Given the description of an element on the screen output the (x, y) to click on. 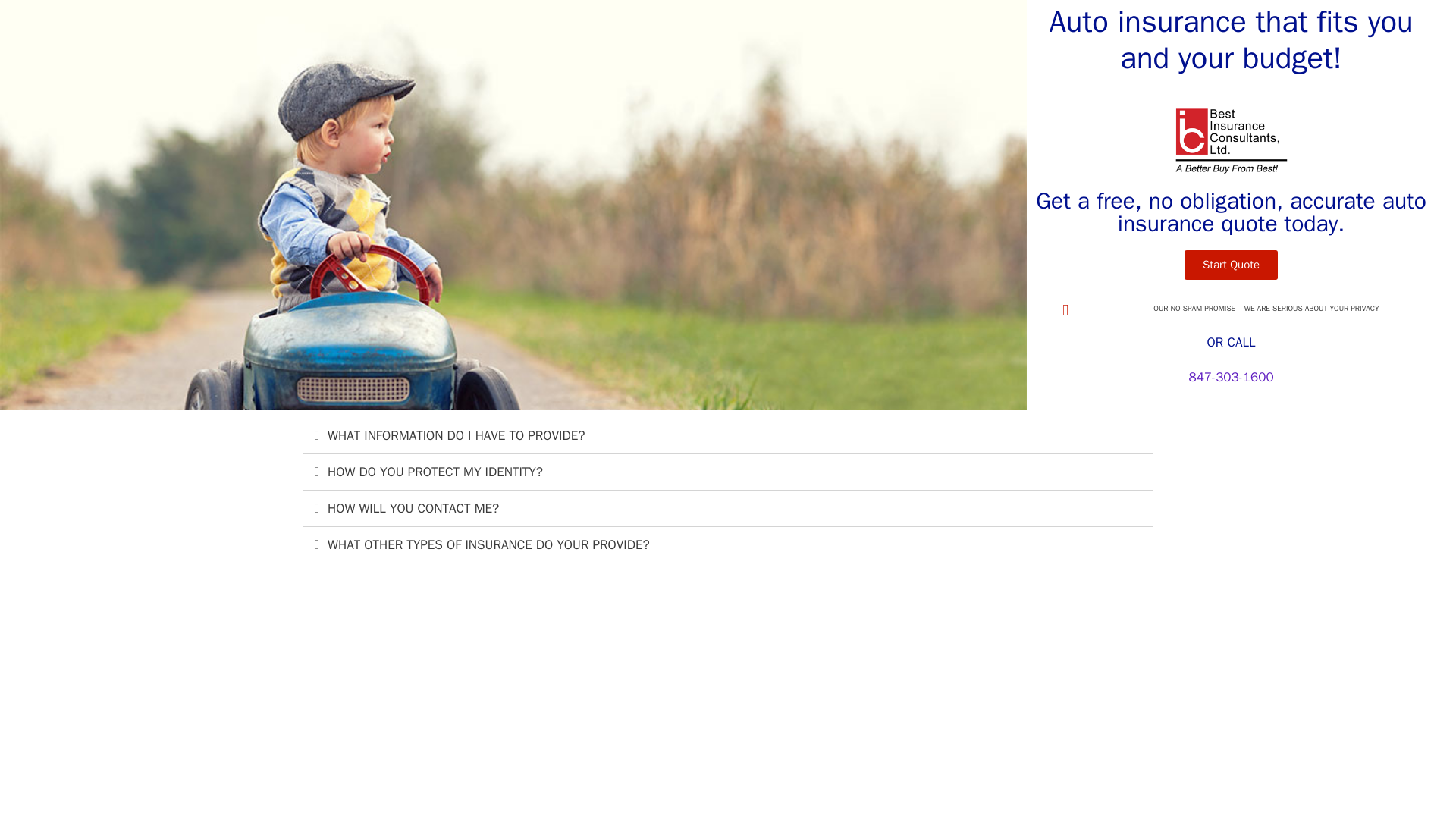
WHAT OTHER TYPES OF INSURANCE DO YOUR PROVIDE? (488, 544)
HOW DO YOU PROTECT MY IDENTITY? (435, 471)
Start Quote (1231, 265)
847-303-1600 (1230, 376)
HOW WILL YOU CONTACT ME? (413, 508)
WHAT INFORMATION DO I HAVE TO PROVIDE? (456, 435)
